Given the description of an element on the screen output the (x, y) to click on. 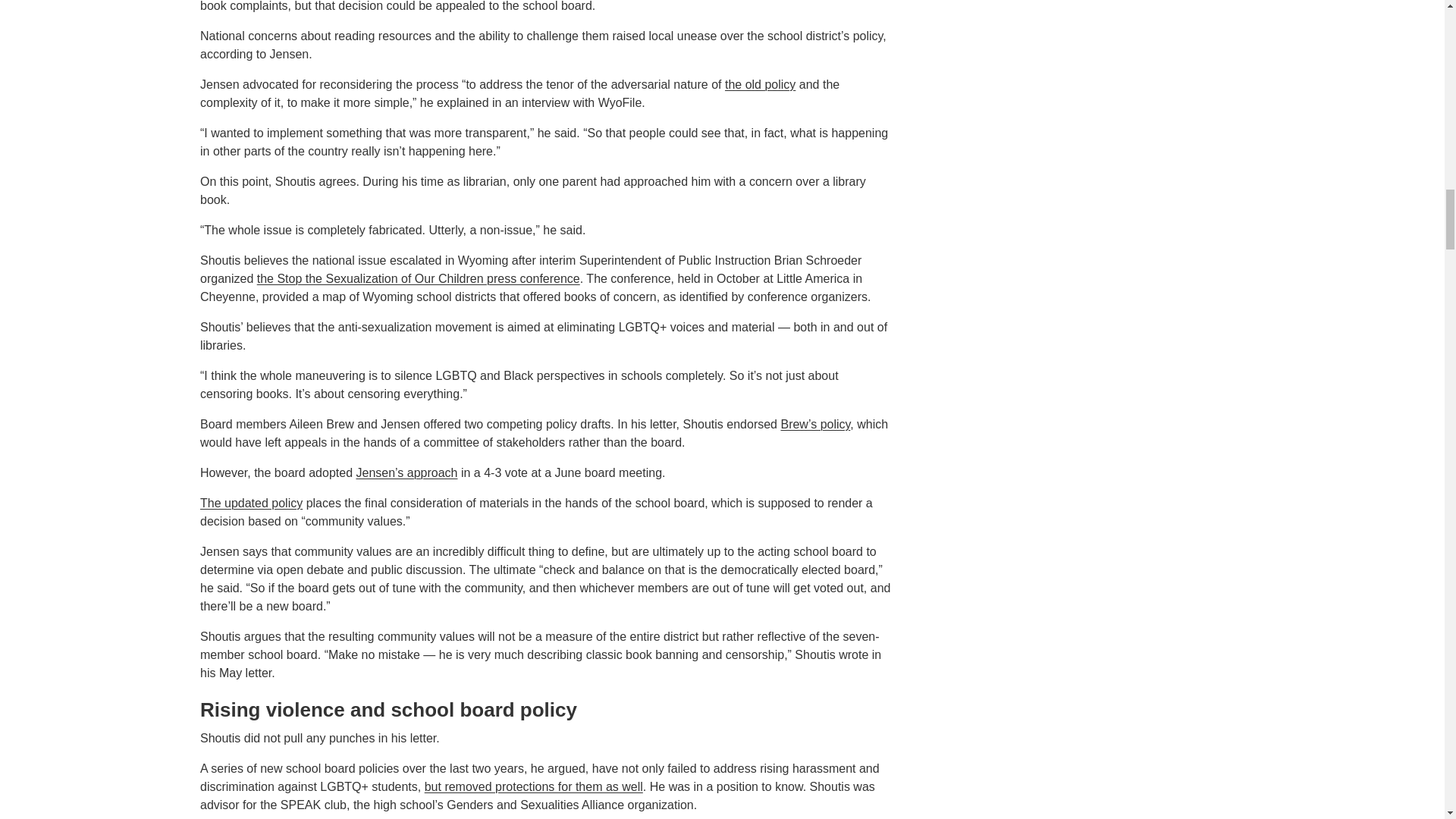
the old policy (759, 83)
but removed protections for them as well (534, 786)
the Stop the Sexualization of Our Children press conference (418, 278)
The updated policy (251, 502)
